Given the description of an element on the screen output the (x, y) to click on. 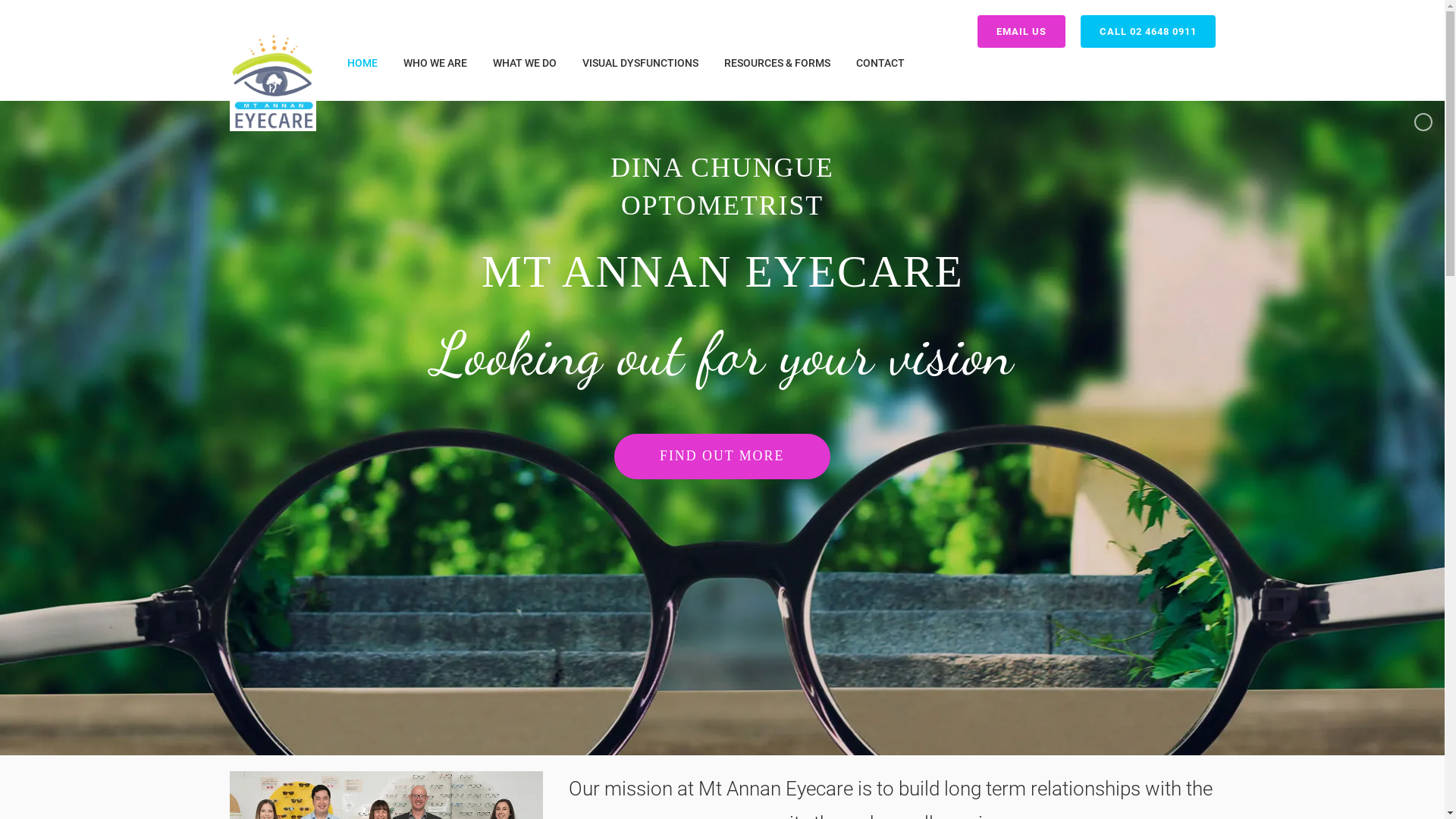
HOME Element type: text (362, 62)
CONTACT Element type: text (880, 62)
RESOURCES & FORMS Element type: text (777, 62)
WHAT WE DO Element type: text (524, 62)
Web Design Element type: text (792, 792)
VISUAL DYSFUNCTIONS Element type: text (640, 62)
EMAIL US Element type: text (1020, 31)
admin@mtannaneyecare.com.au Element type: text (350, 580)
02 4648 0911 Element type: text (304, 544)
CALL 02 4648 0911 Element type: text (1146, 31)
WHO WE ARE Element type: text (435, 62)
